Given the description of an element on the screen output the (x, y) to click on. 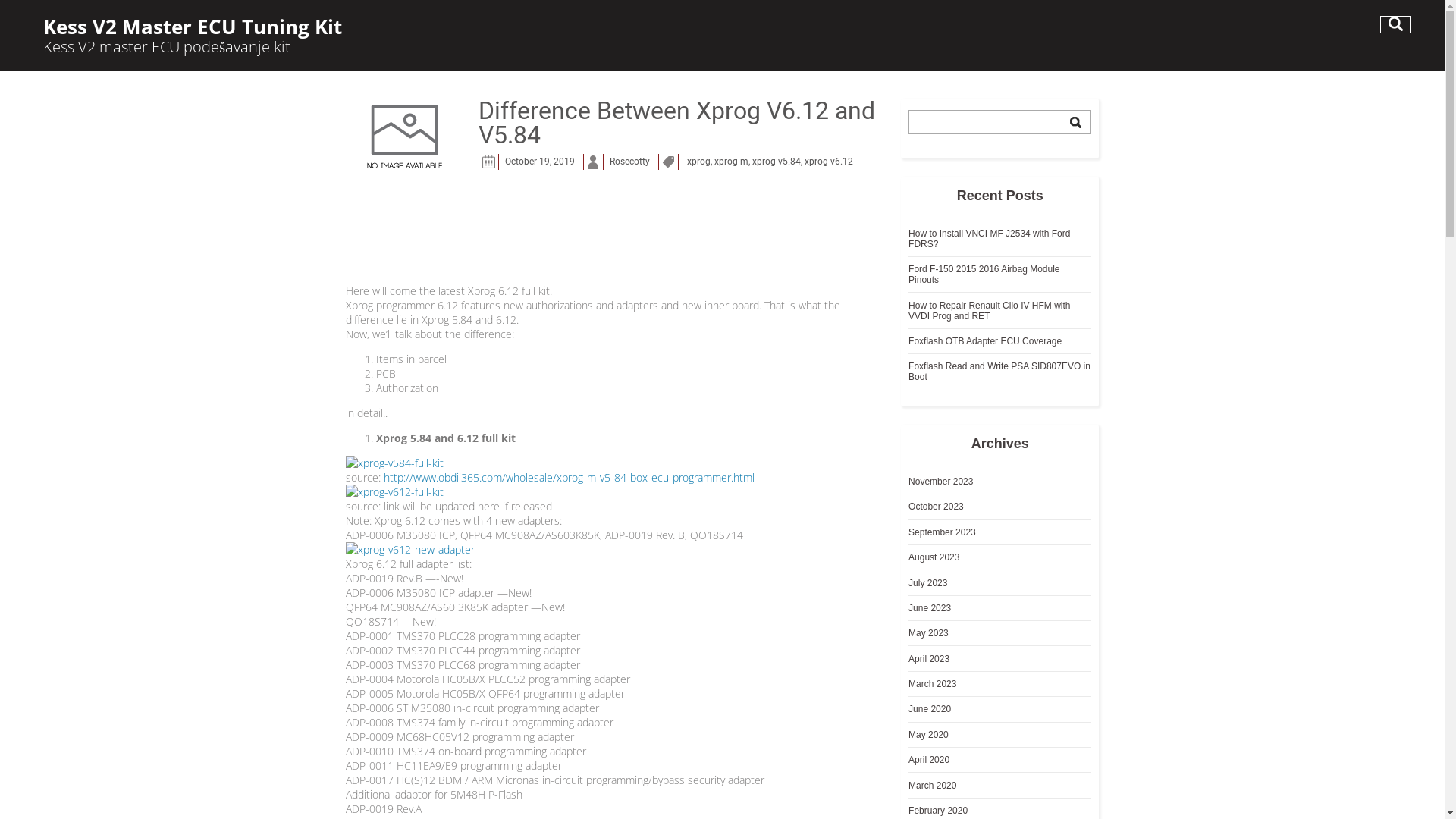
Search for: Element type: hover (1395, 24)
March 2020 Element type: text (932, 784)
September 2023 Element type: text (941, 532)
xprog m Element type: text (731, 163)
June 2020 Element type: text (929, 708)
October 2023 Element type: text (935, 506)
June 2023 Element type: text (929, 607)
Ford F-150 2015 2016 Airbag Module Pinouts Element type: text (983, 274)
May 2020 Element type: text (928, 734)
Search for: Element type: hover (999, 121)
April 2023 Element type: text (928, 658)
Rosecotty Element type: text (629, 163)
November 2023 Element type: text (940, 481)
February 2020 Element type: text (937, 810)
October 19, 2019 Element type: text (539, 163)
July 2023 Element type: text (927, 582)
August 2023 Element type: text (933, 557)
How to Repair Renault Clio IV HFM with VVDI Prog and RET Element type: text (989, 310)
xprog v5.84 Element type: text (776, 163)
March 2023 Element type: text (932, 683)
xprog v6.12 Element type: text (828, 163)
Foxflash OTB Adapter ECU Coverage Element type: text (984, 340)
May 2023 Element type: text (928, 632)
How to Install VNCI MF J2534 with Ford FDRS? Element type: text (989, 238)
xprog Element type: text (698, 163)
Foxflash Read and Write PSA SID807EVO in Boot Element type: text (999, 371)
April 2020 Element type: text (928, 759)
